Given the description of an element on the screen output the (x, y) to click on. 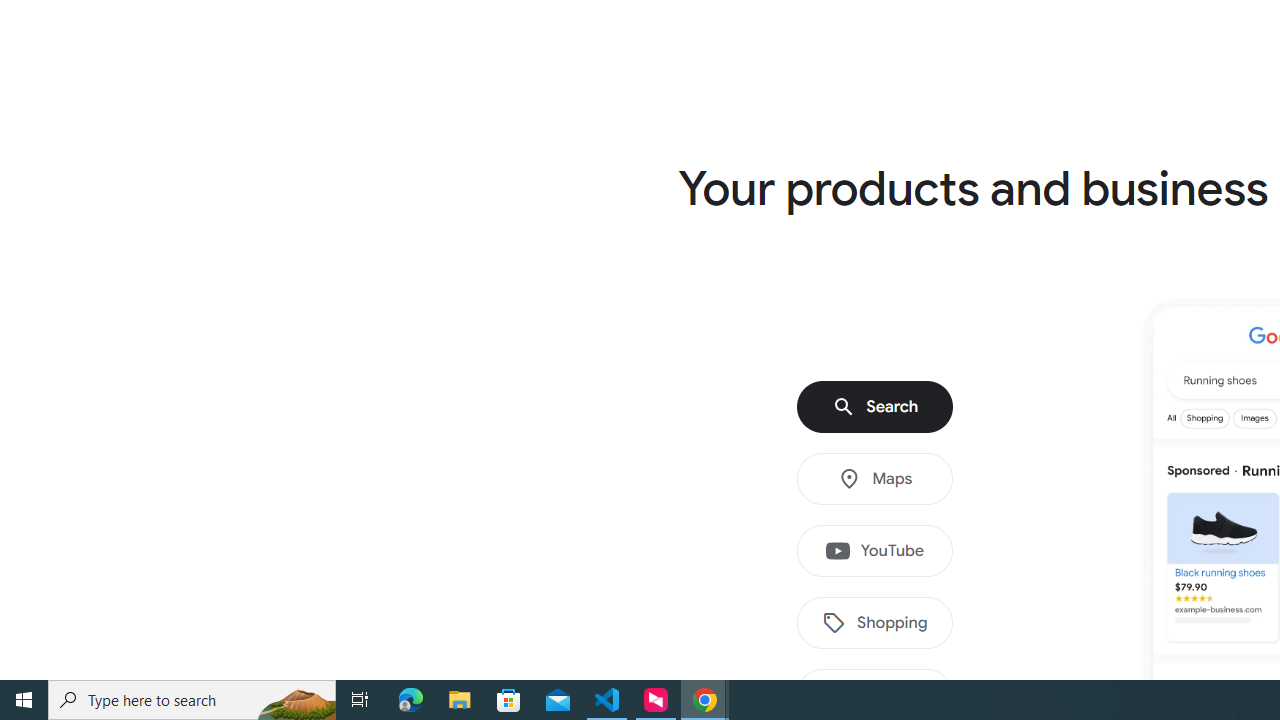
YouTube (875, 551)
Maps (875, 479)
Shopping (875, 623)
